Given the description of an element on the screen output the (x, y) to click on. 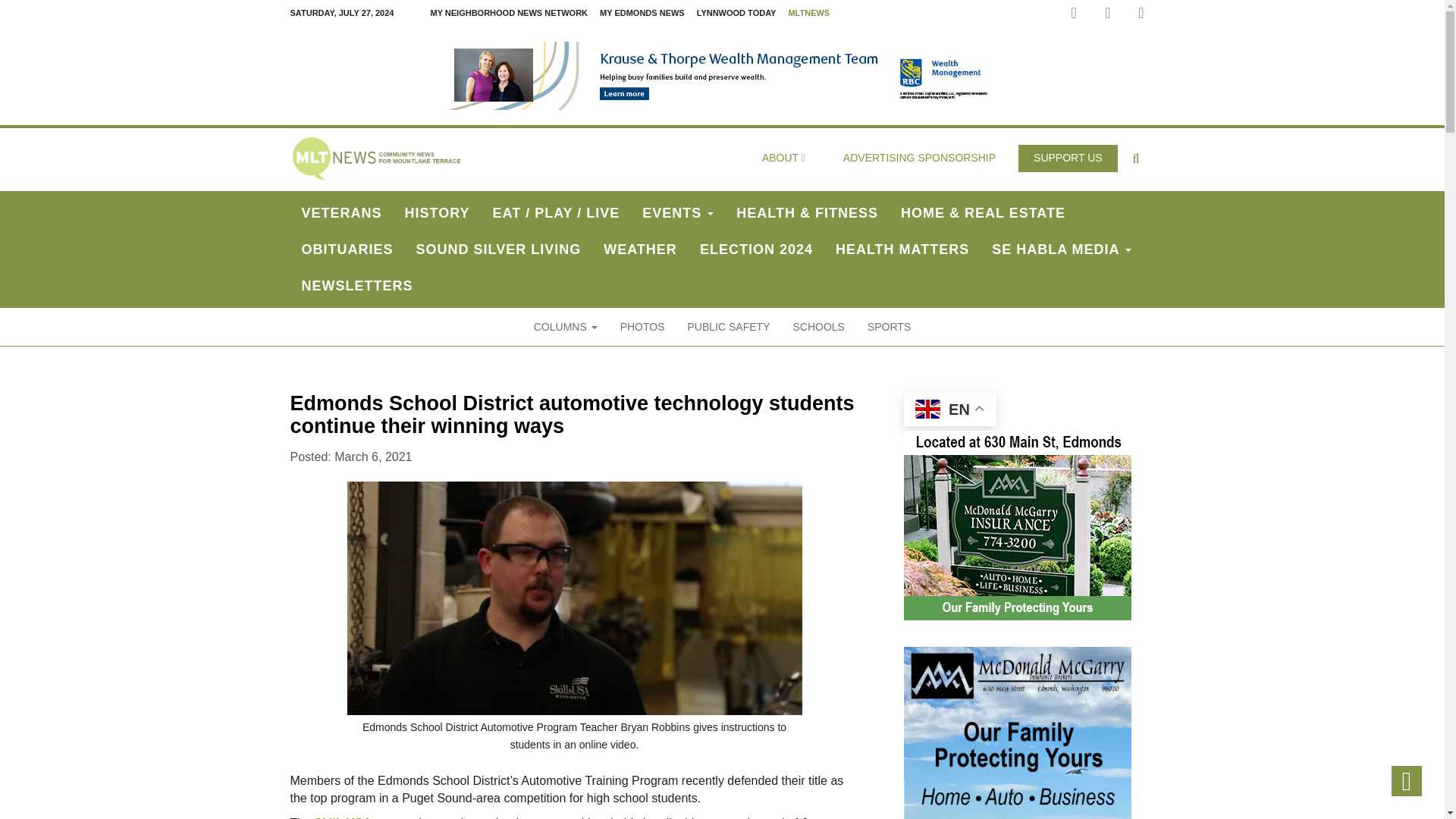
MLTnews.com (375, 157)
SUPPORT US (1067, 157)
WEATHER (640, 248)
ADVERTISING SPONSORSHIP (919, 157)
LYNNWOOD TODAY (736, 13)
Election 2024 (756, 248)
MY EDMONDS NEWS (642, 13)
SE HABLA MEDIA (1060, 248)
HISTORY (437, 212)
HEALTH MATTERS (901, 248)
EVENTS (677, 212)
History (437, 212)
ABOUT (783, 157)
VETERANS (341, 212)
NEWSLETTERS (356, 285)
